Given the description of an element on the screen output the (x, y) to click on. 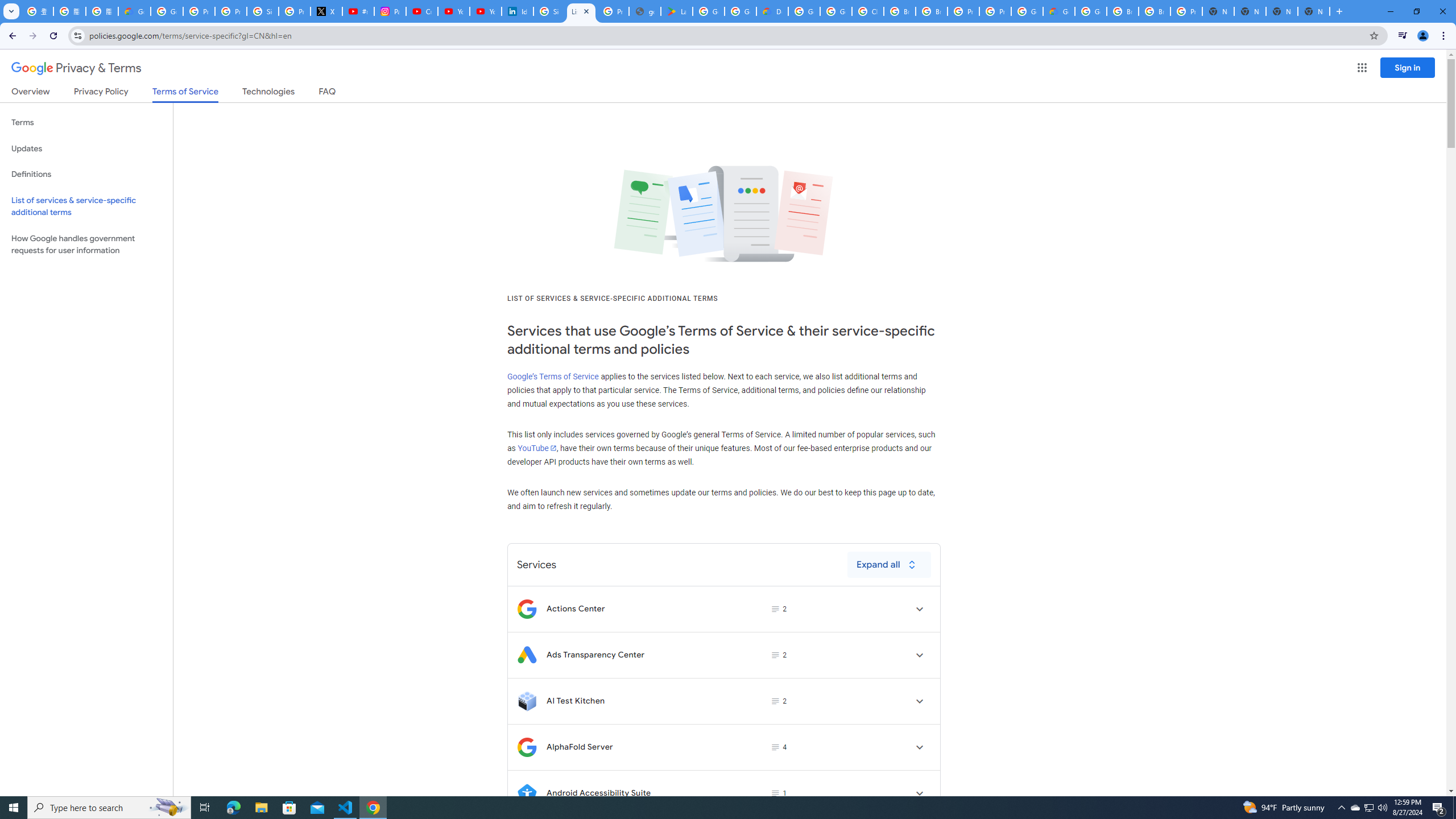
Logo for Android Accessibility Suite (526, 792)
#nbabasketballhighlights - YouTube (358, 11)
Google Cloud Platform (804, 11)
